Given the description of an element on the screen output the (x, y) to click on. 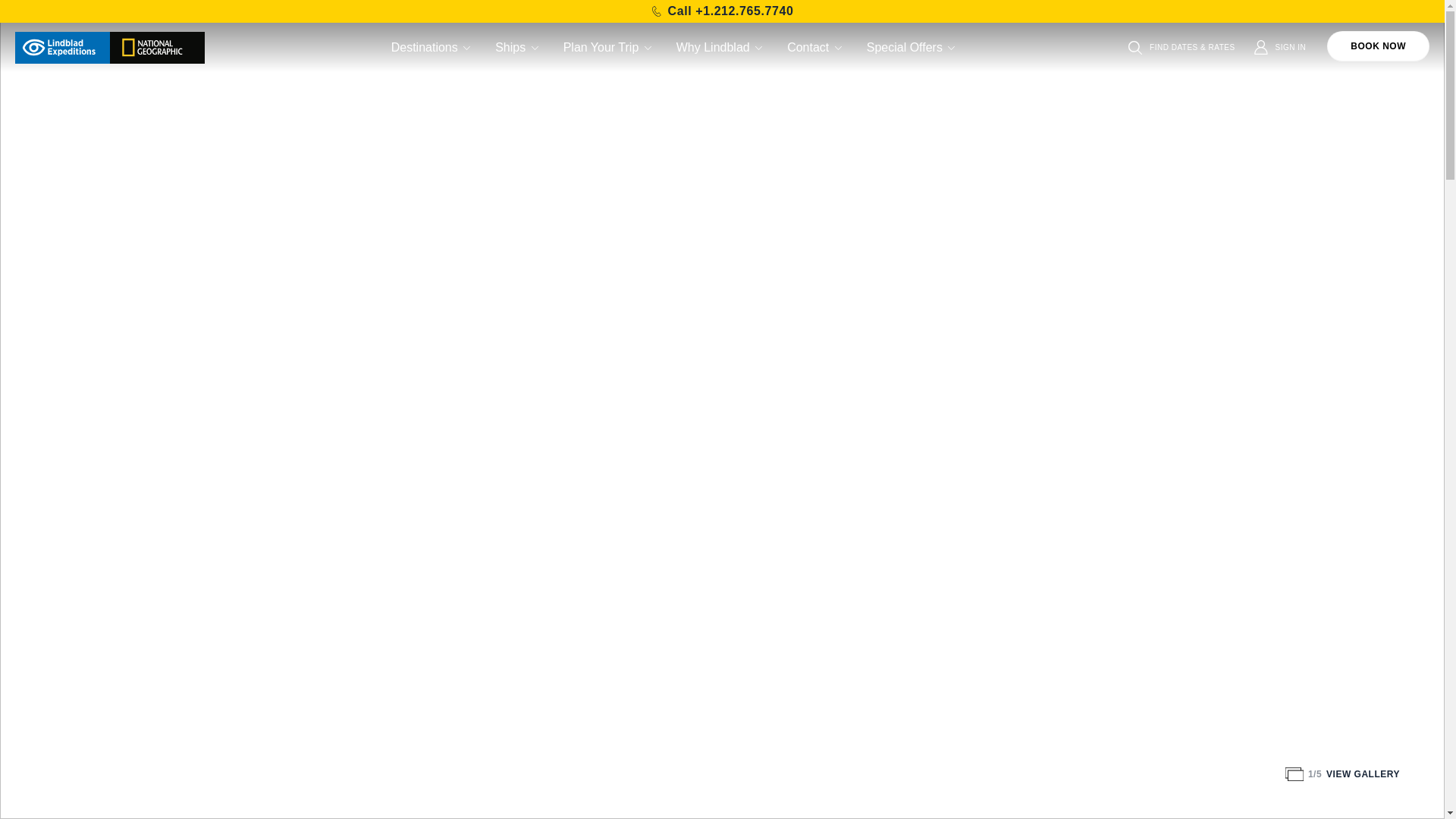
Destinations (432, 47)
